Given the description of an element on the screen output the (x, y) to click on. 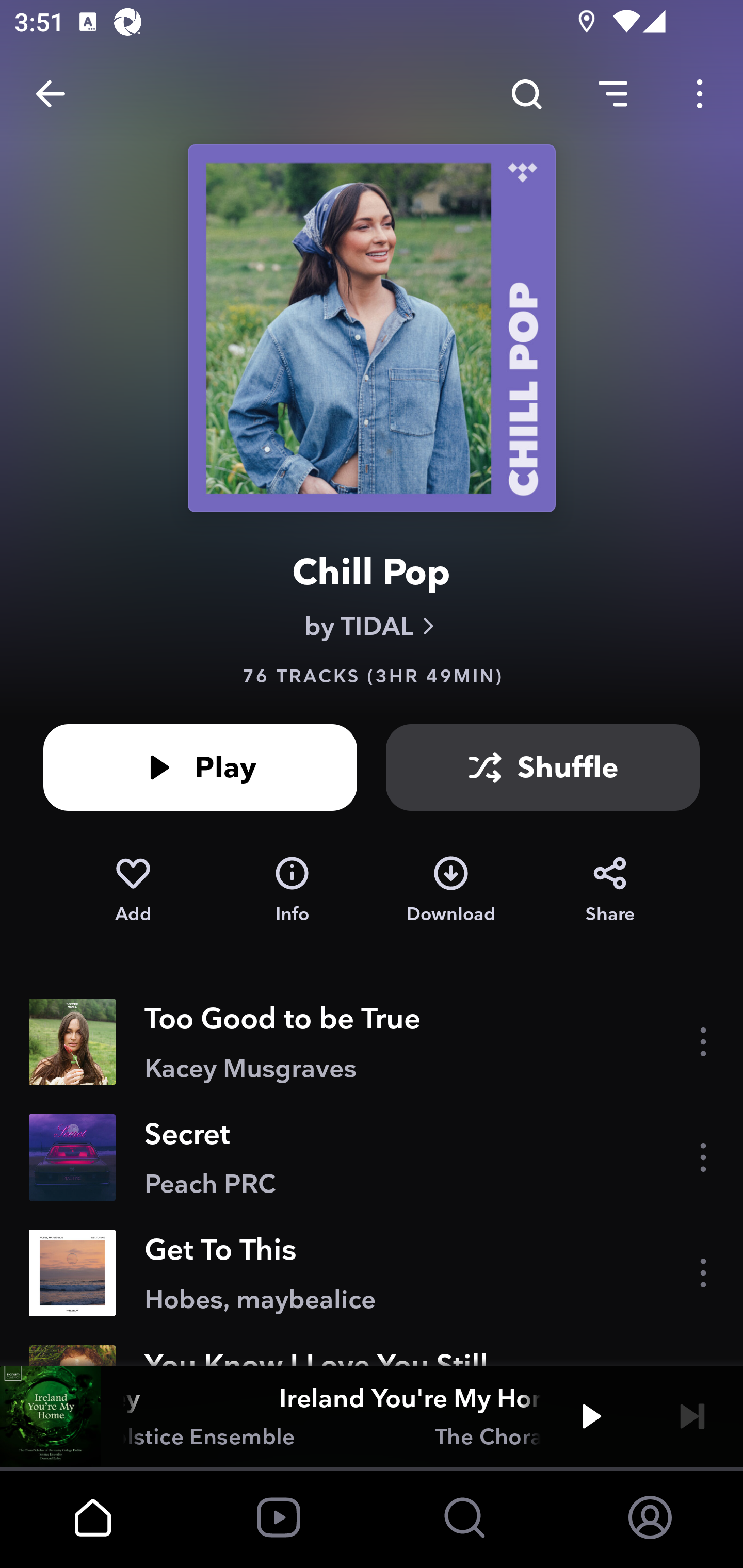
Back (50, 93)
Search (525, 93)
Sorting (612, 93)
Options (699, 93)
by TIDAL (371, 625)
Play (200, 767)
Shuffle (542, 767)
Add (132, 890)
Info (291, 890)
Download (450, 890)
Share (609, 890)
Too Good to be True Kacey Musgraves (371, 1041)
Secret Peach PRC (371, 1157)
Get To This Hobes, maybealice (371, 1273)
Play (590, 1416)
